Given the description of an element on the screen output the (x, y) to click on. 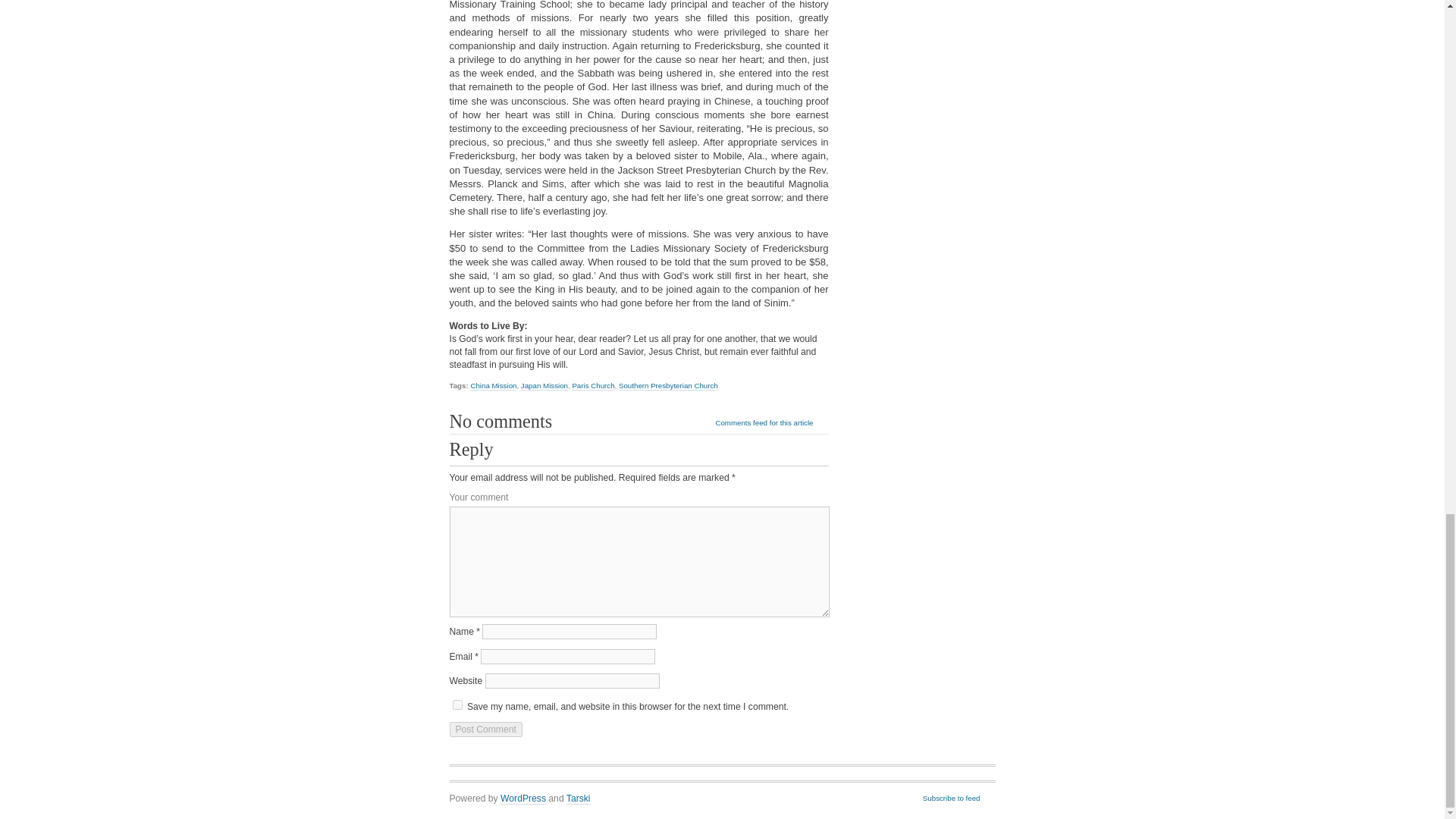
China Mission (493, 385)
Post Comment (484, 729)
Japan Mission (544, 385)
Southern Presbyterian Church (667, 385)
Comments feed for this article (771, 423)
yes (456, 705)
Subscribe to feed (959, 797)
WordPress (523, 798)
Paris Church (593, 385)
Post Comment (484, 729)
